Given the description of an element on the screen output the (x, y) to click on. 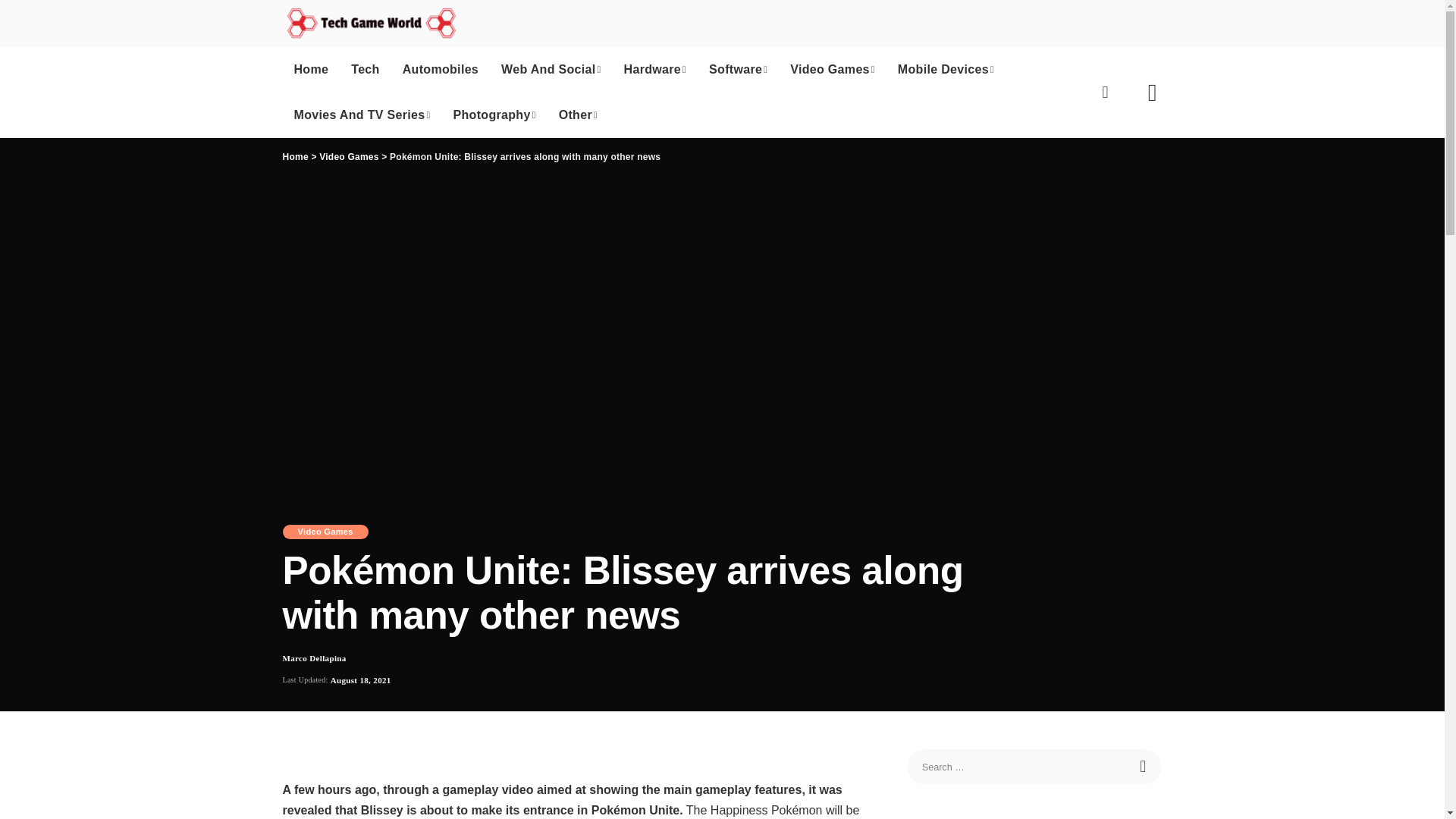
Search (1143, 766)
Search (1143, 766)
